Given the description of an element on the screen output the (x, y) to click on. 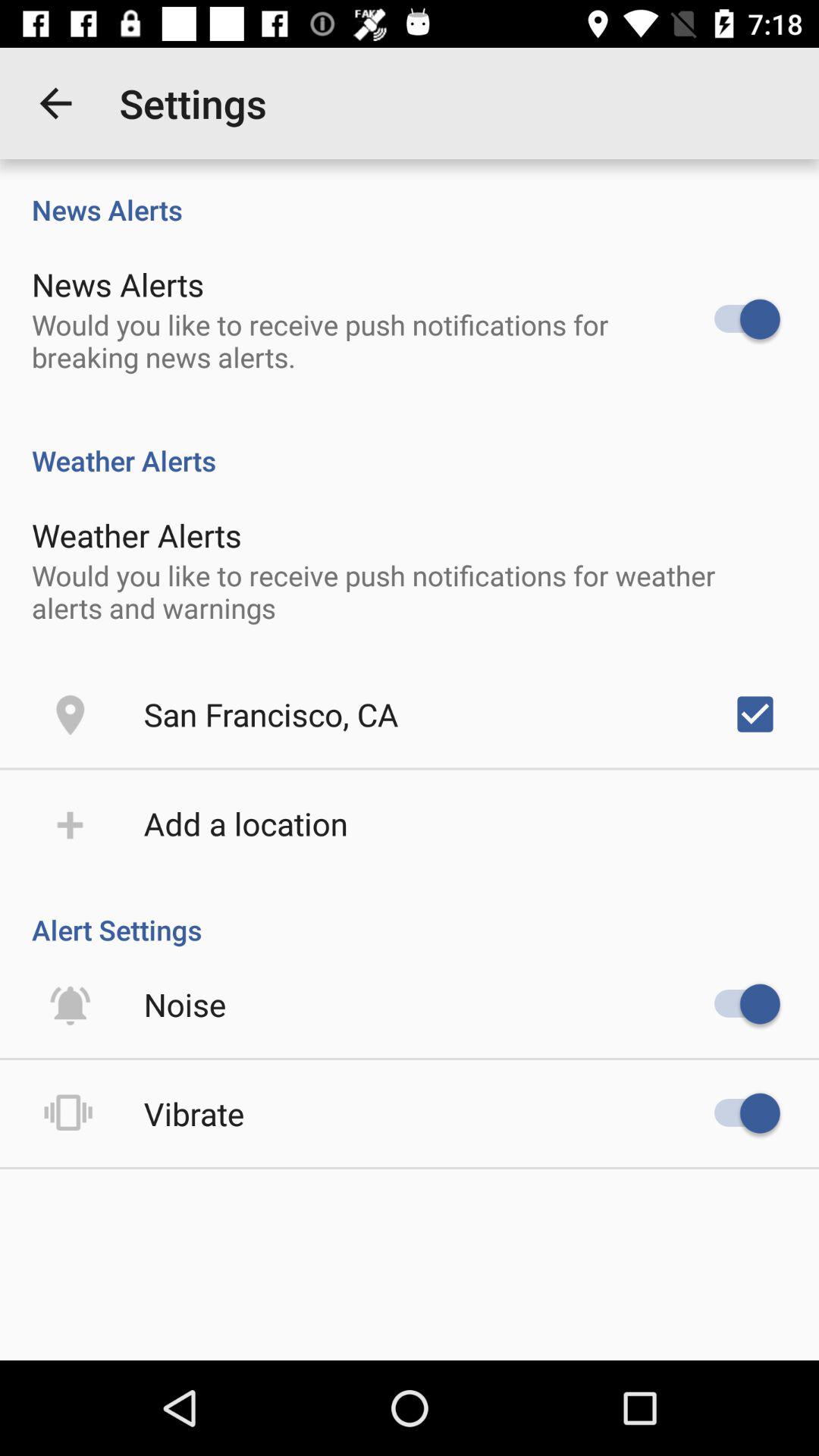
scroll to noise (184, 1004)
